Given the description of an element on the screen output the (x, y) to click on. 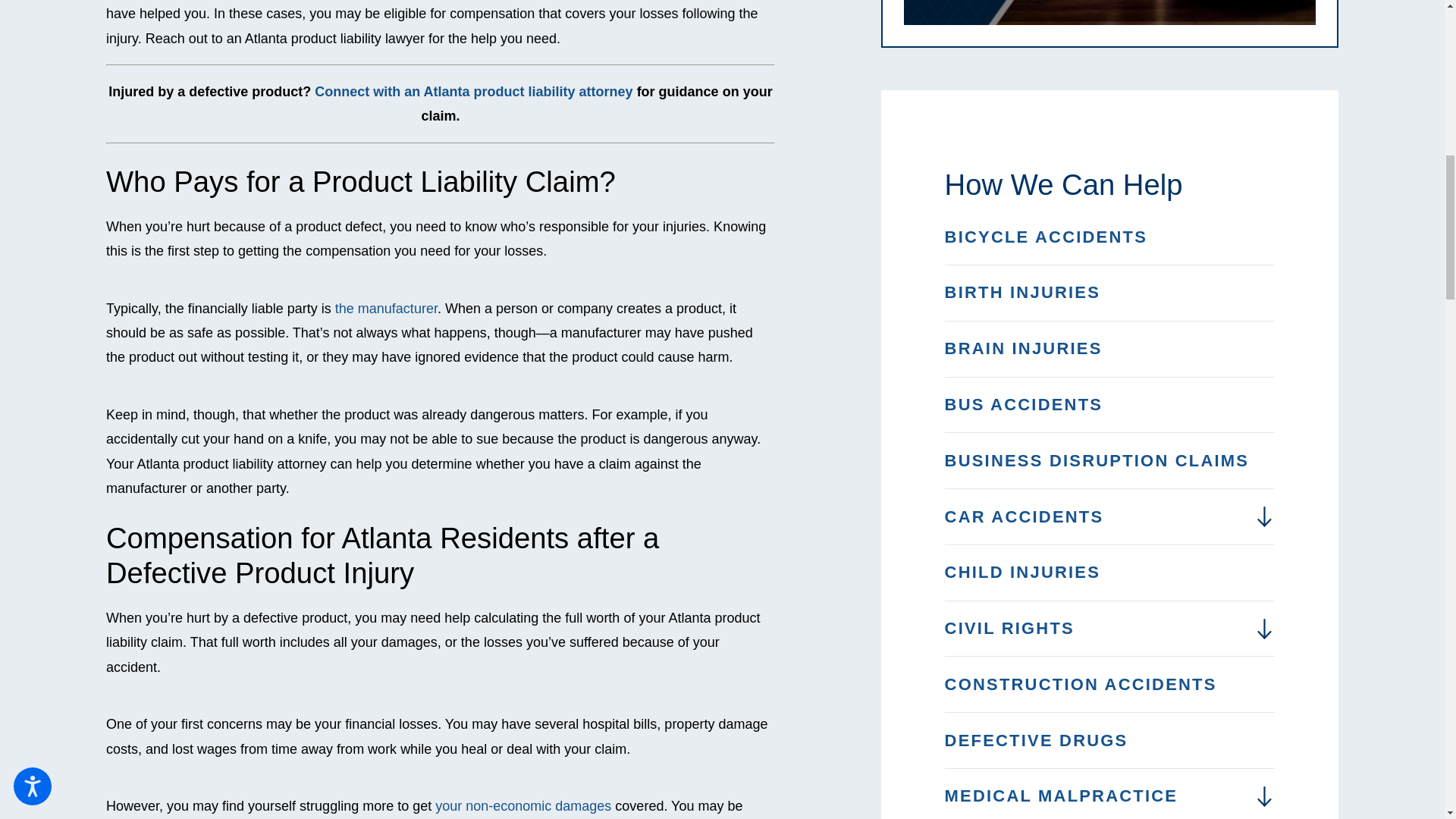
Open child menu of Car Accidents (1264, 516)
Open child menu of Civil Rights (1264, 629)
Fischer Redavid (1110, 12)
Open child menu of Medical Malpractice (1264, 796)
